Given the description of an element on the screen output the (x, y) to click on. 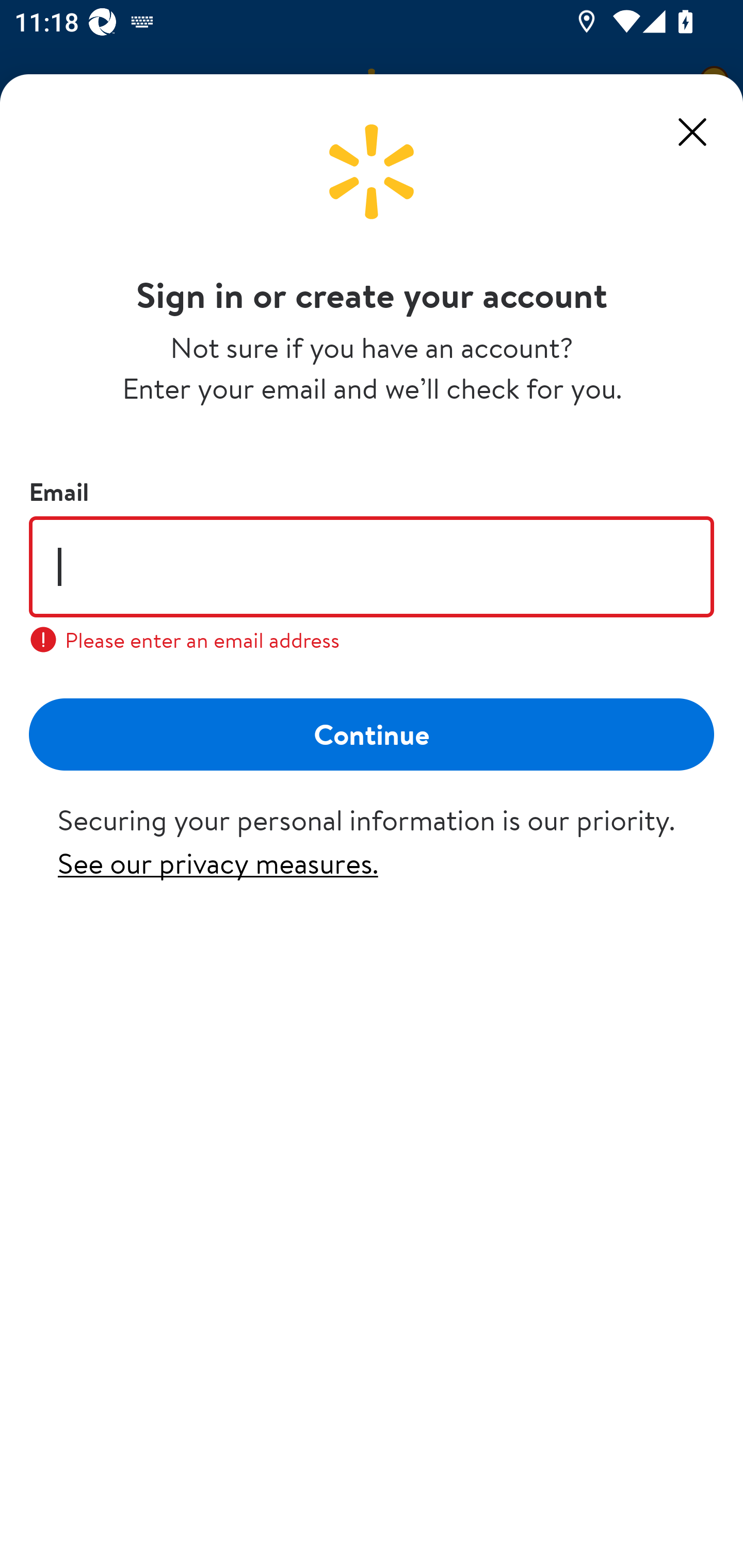
Close (692, 131)
Email (371, 566)
Continue (371, 733)
